Given the description of an element on the screen output the (x, y) to click on. 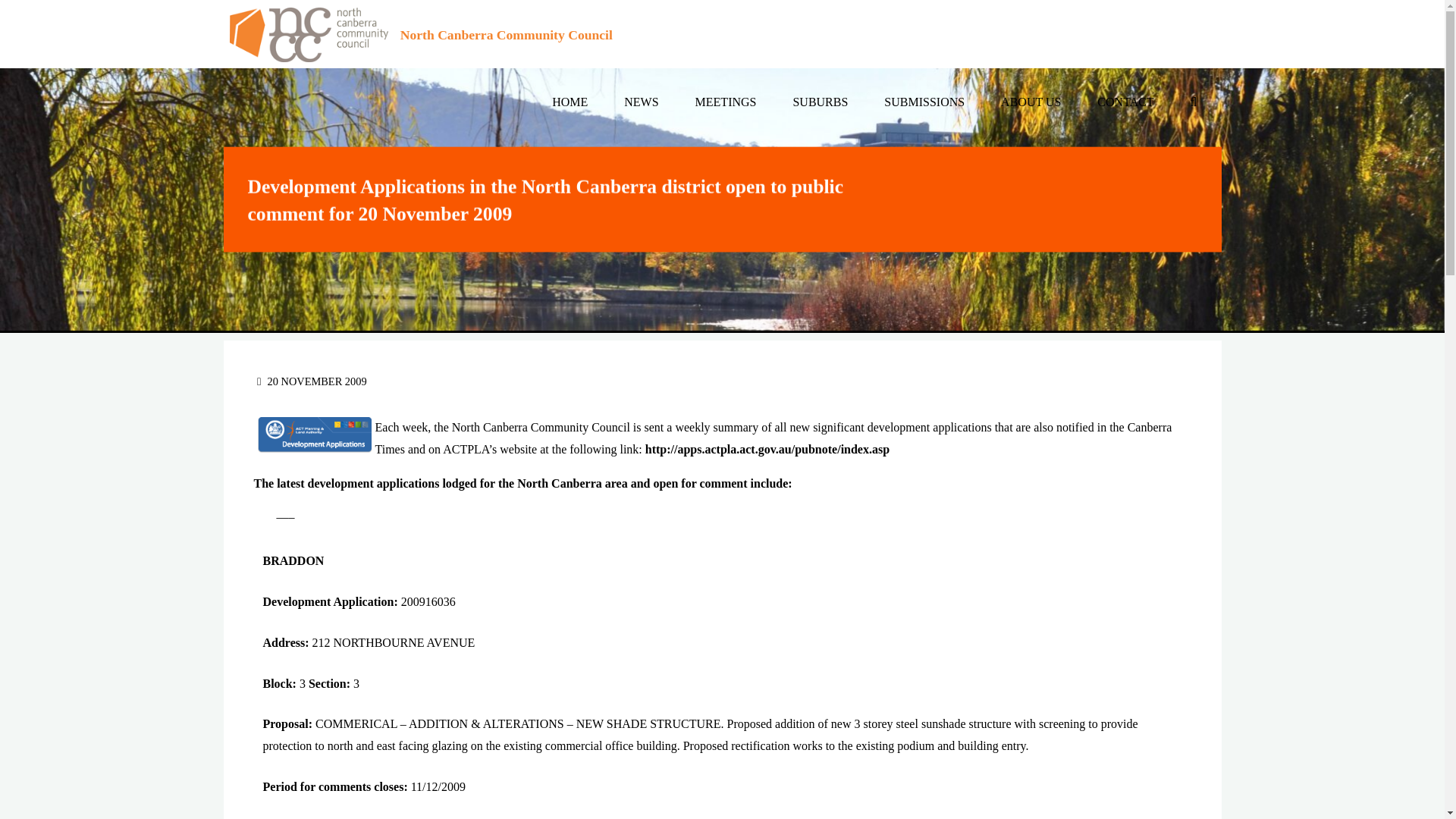
Development Applications (314, 434)
North Canberra Community Council (506, 34)
ABOUT US (1031, 101)
MEETINGS (725, 101)
SUBMISSIONS (924, 101)
CONTACT (1125, 101)
North Canberra Community Council (307, 33)
